Given the description of an element on the screen output the (x, y) to click on. 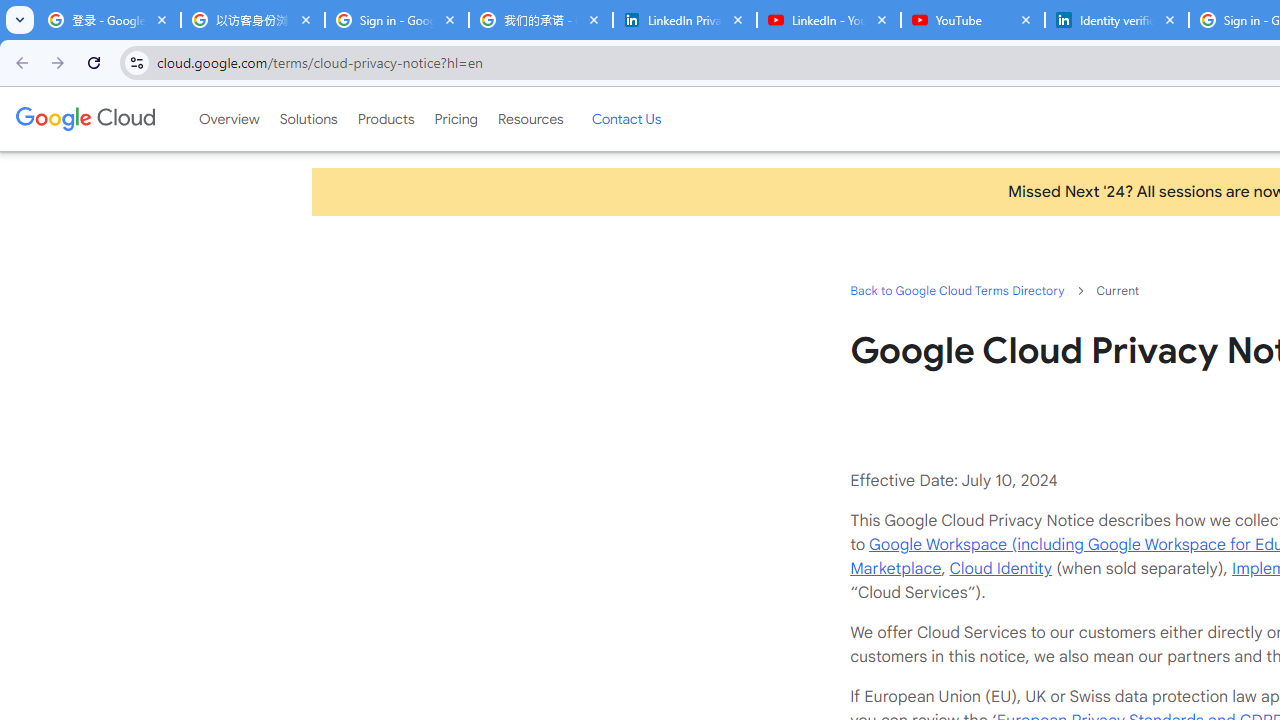
Overview (228, 119)
View site information (136, 62)
Cloud Identity (1000, 568)
Sign in - Google Accounts (396, 20)
Google Cloud (84, 118)
Contact Us (626, 119)
Identity verification via Persona | LinkedIn Help (1116, 20)
YouTube (972, 20)
Back to Google Cloud Terms Directory (956, 290)
